Given the description of an element on the screen output the (x, y) to click on. 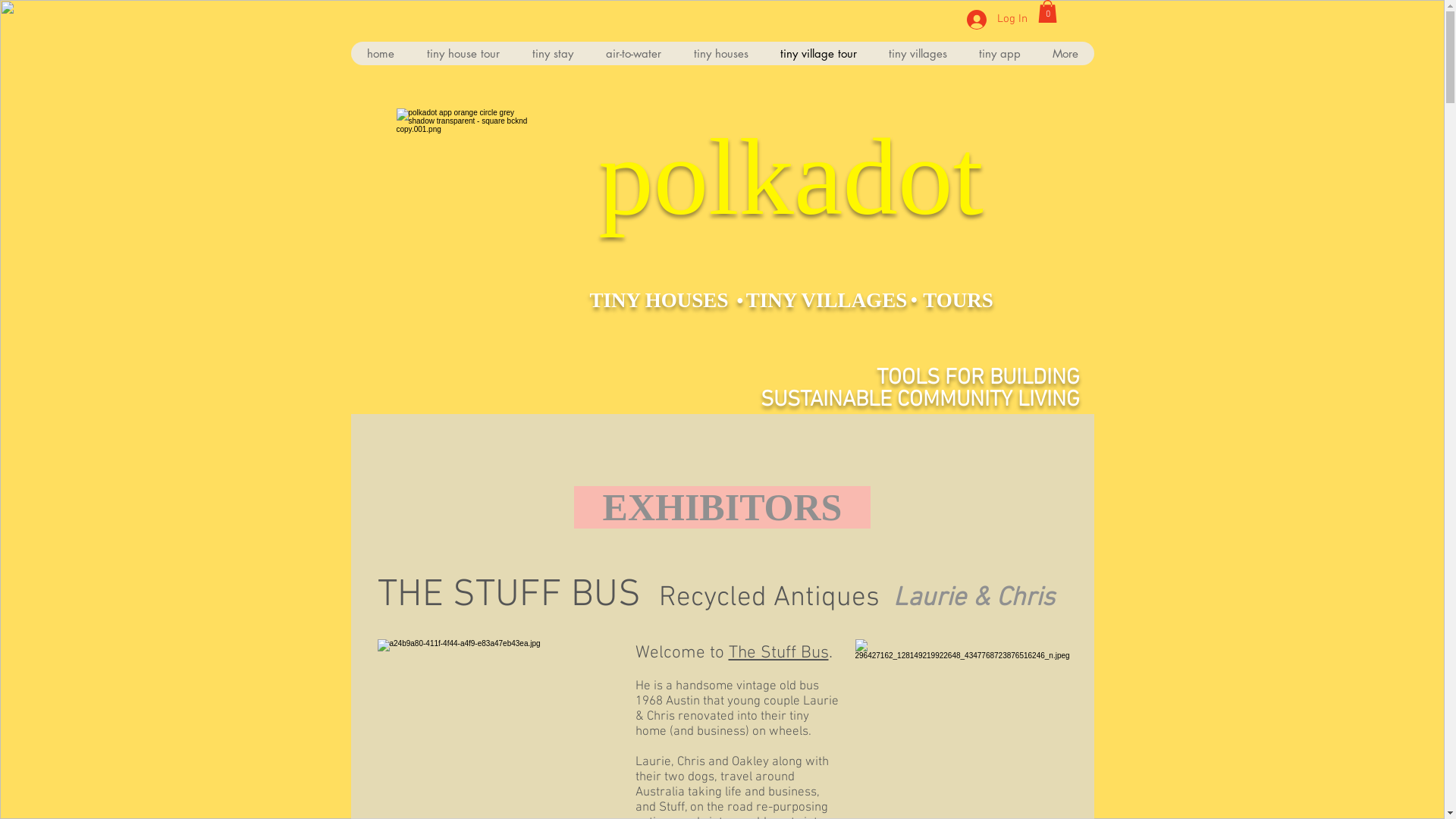
TINY HOUSES Element type: text (658, 299)
The Stuff Bus Element type: text (778, 652)
TOURS Element type: text (957, 299)
tiny houses Element type: text (719, 53)
TINY VILLAGES Element type: text (826, 299)
0 Element type: text (1046, 11)
air-to-water Element type: text (632, 53)
polkadot Element type: text (790, 176)
tiny village tour Element type: text (818, 53)
tiny house tour Element type: text (461, 53)
tiny stay Element type: text (552, 53)
Log In Element type: text (996, 18)
tiny villages Element type: text (917, 53)
tiny app Element type: text (999, 53)
home Element type: text (379, 53)
